Given the description of an element on the screen output the (x, y) to click on. 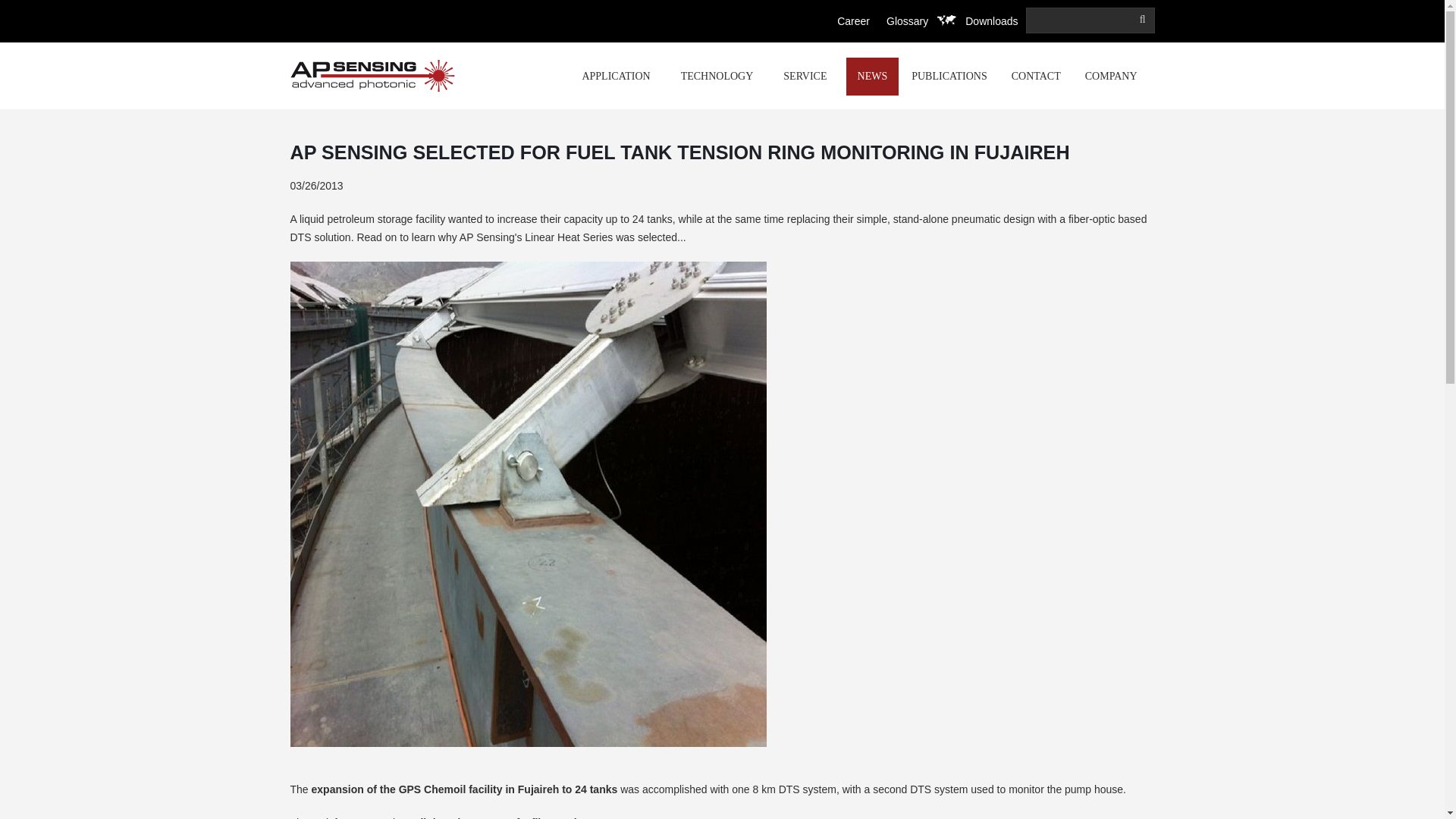
Service (807, 76)
News (872, 76)
SERVICE (807, 76)
Publications (948, 76)
Contact (1035, 76)
Career (853, 21)
Glossary (907, 21)
APPLICATION (618, 76)
Login (1017, 148)
Downloads (991, 21)
TECHNOLOGY (720, 76)
